Given the description of an element on the screen output the (x, y) to click on. 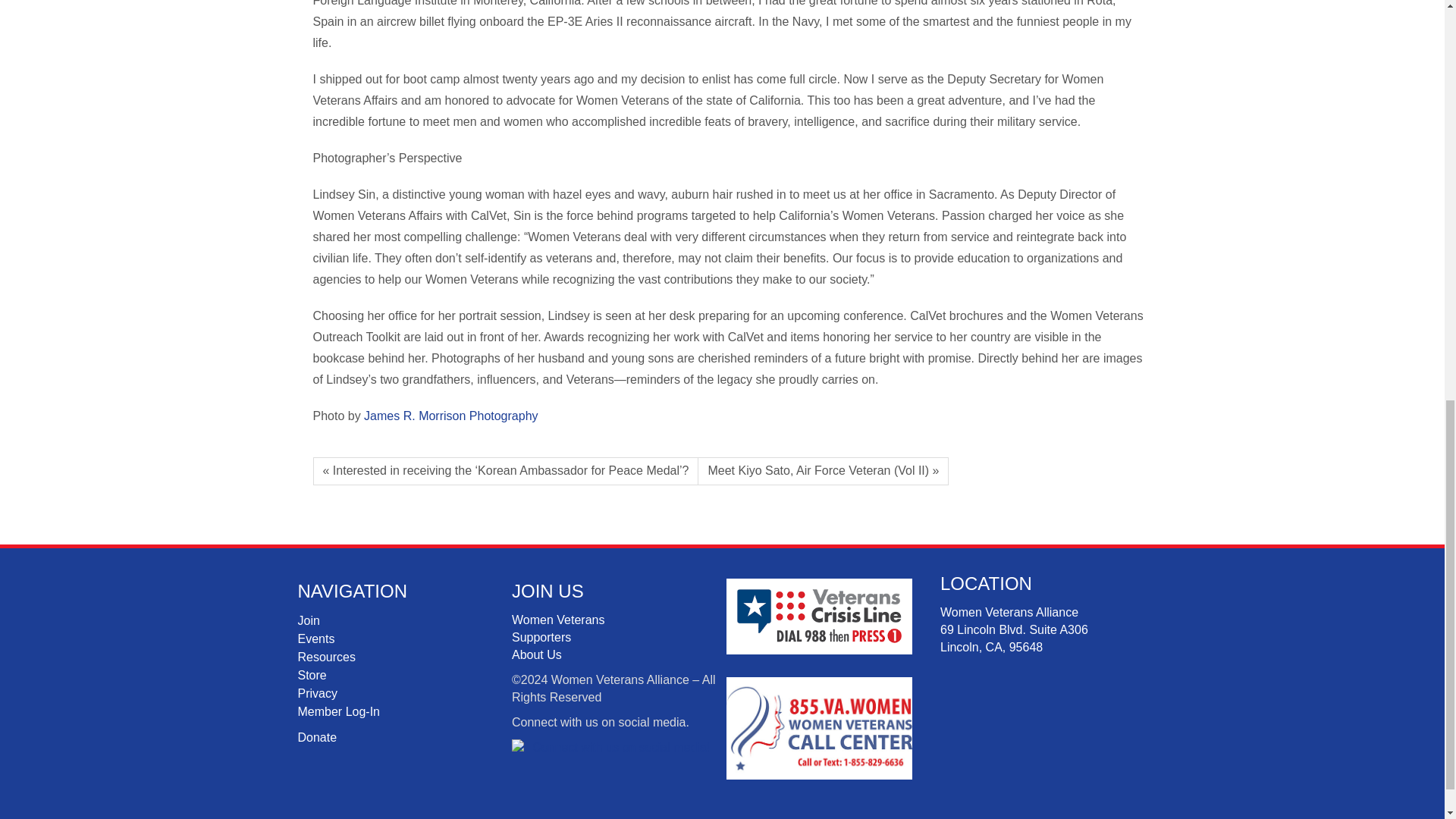
James R. Morrison Photography (450, 415)
Join (307, 620)
